Given the description of an element on the screen output the (x, y) to click on. 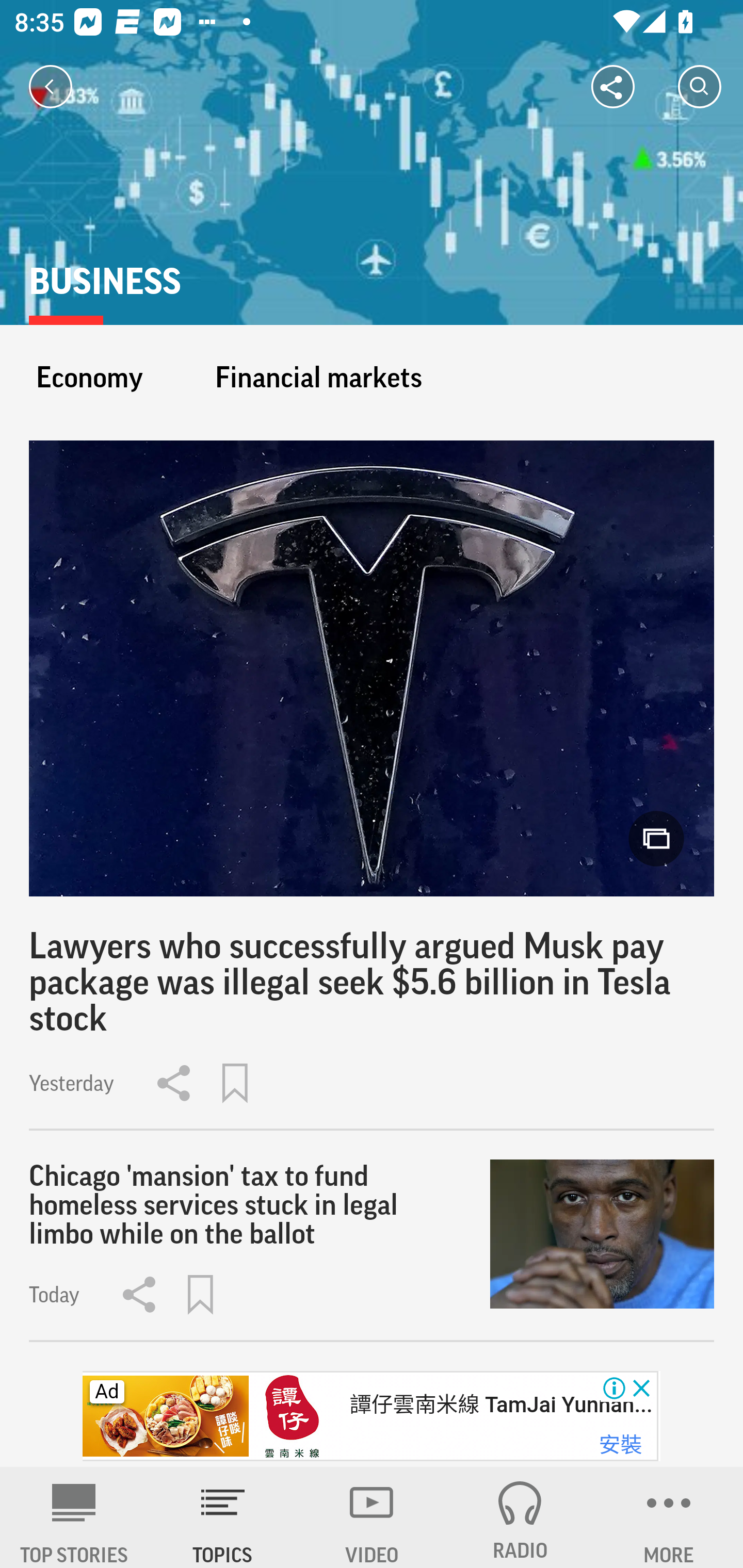
Economy (89, 376)
Financial markets (317, 376)
譚仔雲南米線 TamJai Yunnan... (500, 1404)
安裝 (620, 1445)
AP News TOP STORIES (74, 1517)
TOPICS (222, 1517)
VIDEO (371, 1517)
RADIO (519, 1517)
MORE (668, 1517)
